Given the description of an element on the screen output the (x, y) to click on. 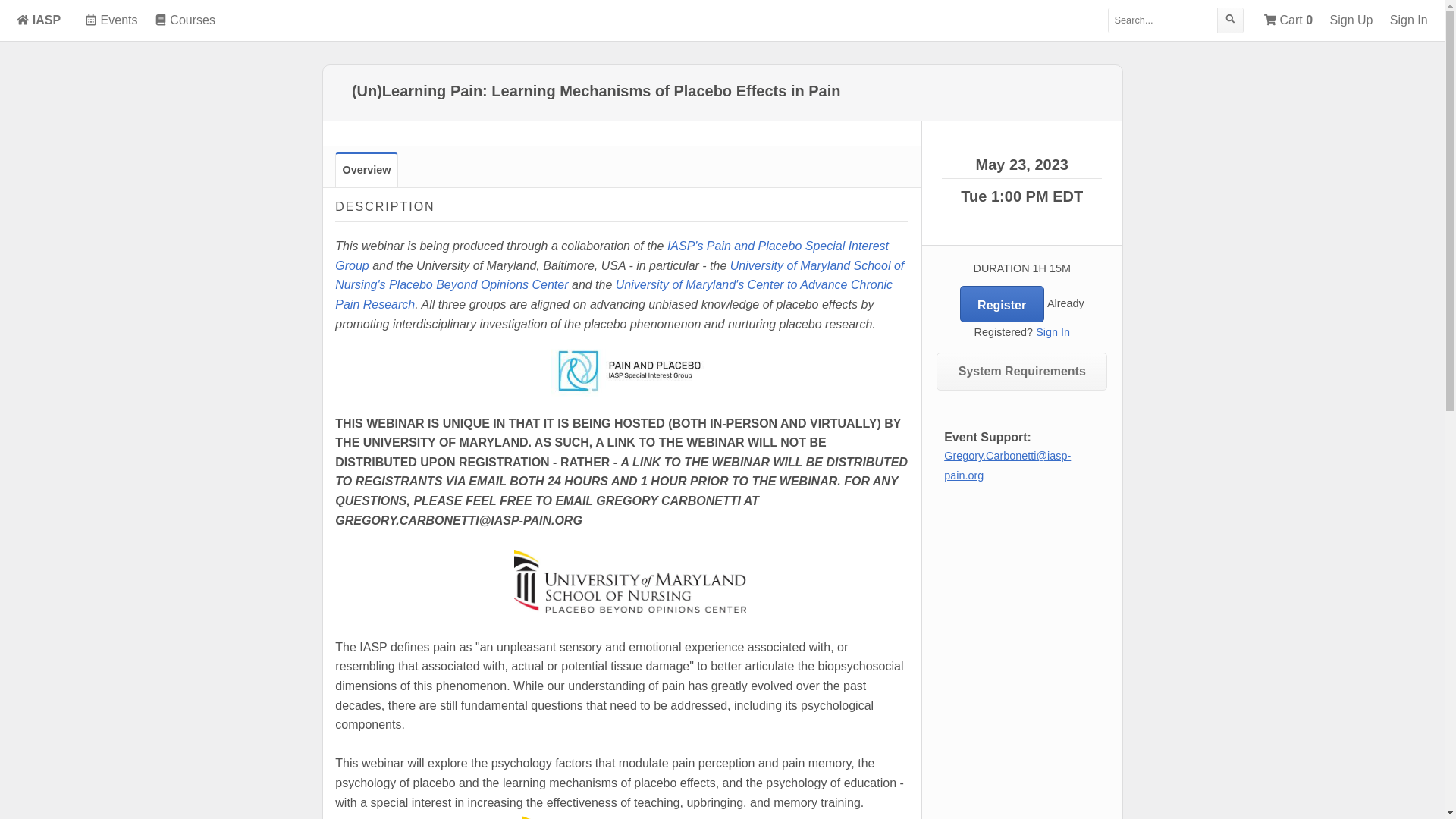
Events (111, 20)
IASP's Pain and Placebo Special Interest Group (611, 255)
Courses (185, 20)
Courses (185, 20)
Sign Up (1350, 20)
System Requirements (1021, 371)
Sign In (1052, 331)
Cart 0 (1288, 20)
